Given the description of an element on the screen output the (x, y) to click on. 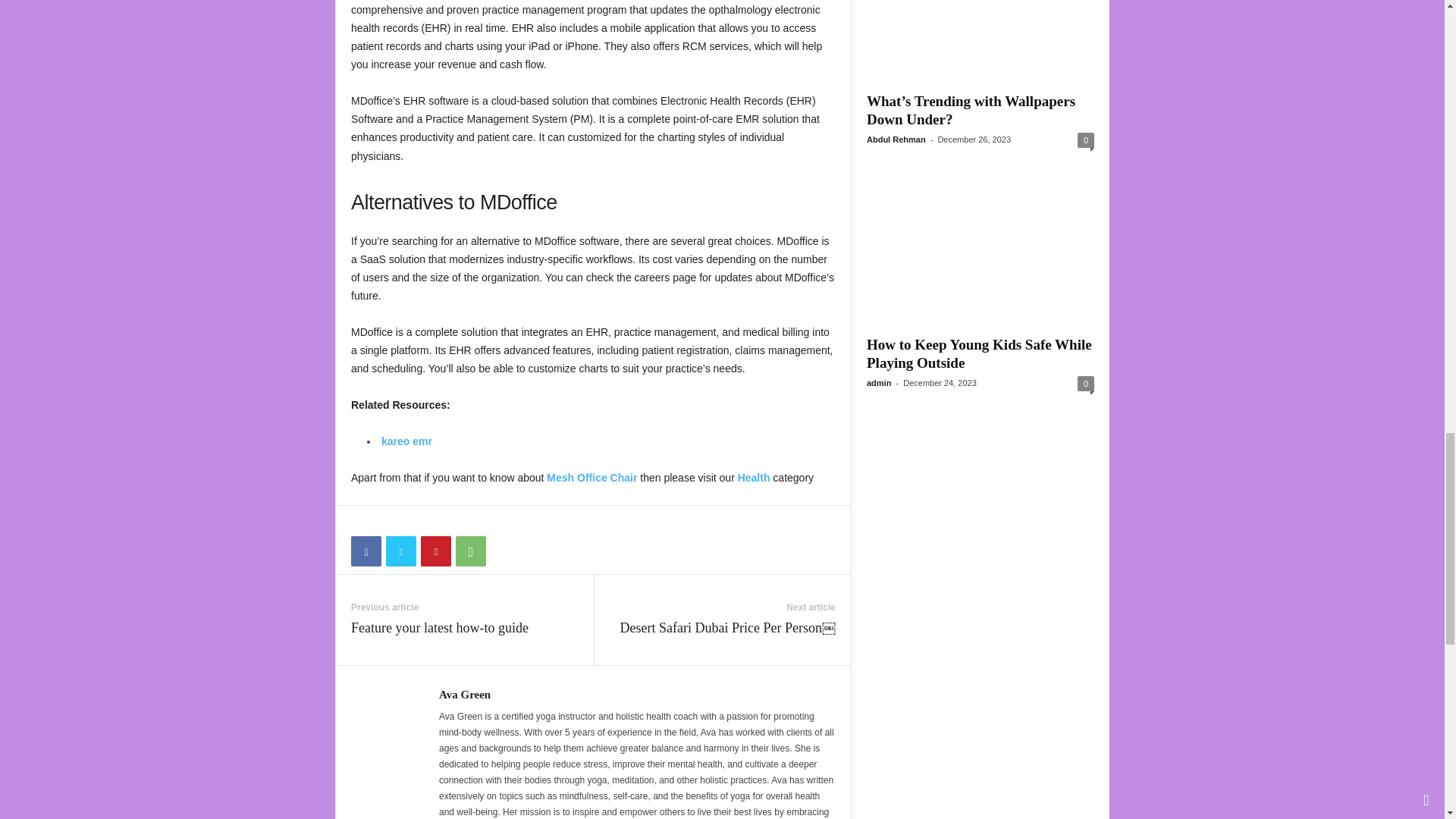
Facebook (365, 551)
bottomFacebookLike (390, 521)
Pinterest (435, 551)
Twitter (400, 551)
